Given the description of an element on the screen output the (x, y) to click on. 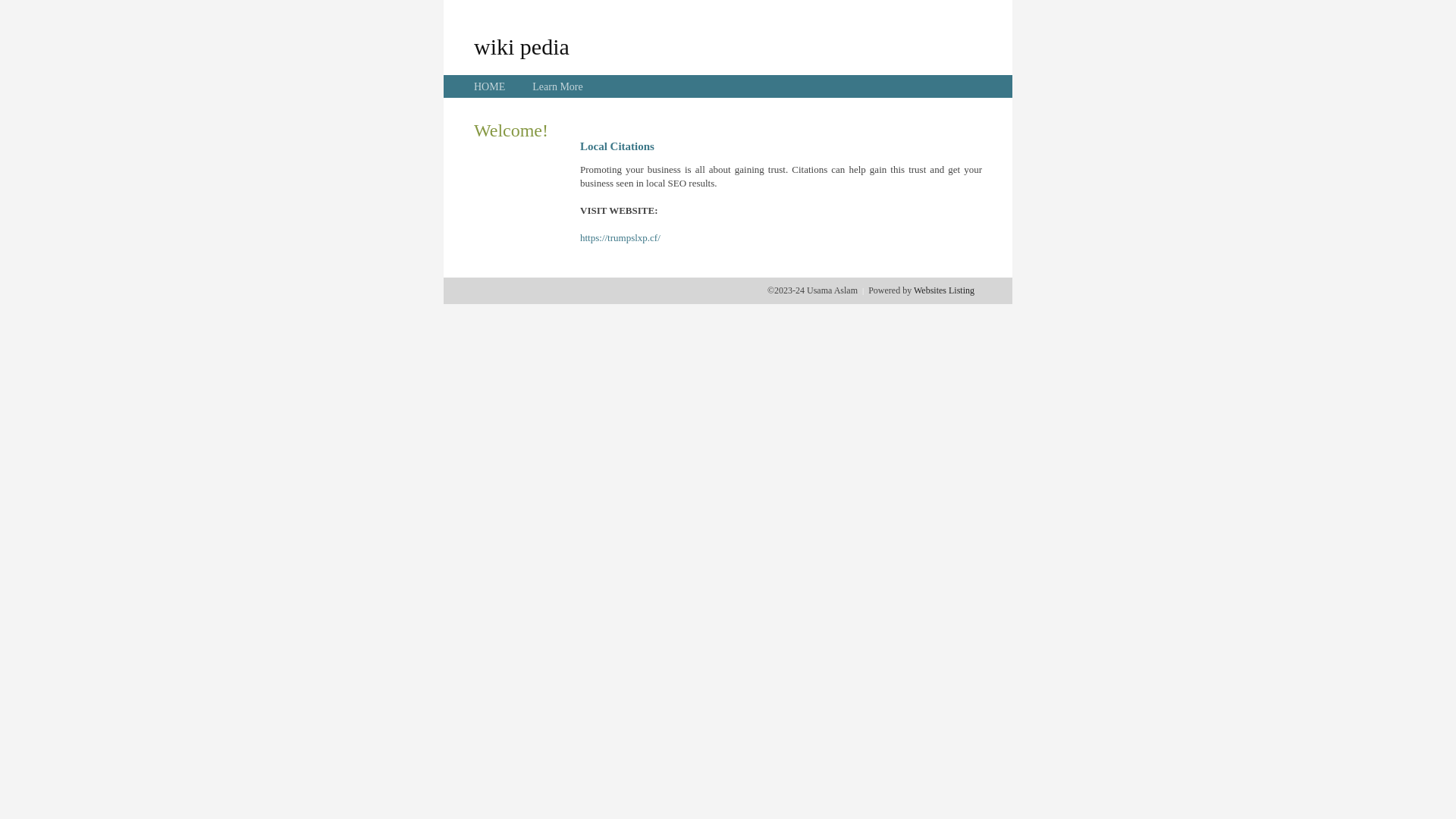
Websites Listing Element type: text (943, 290)
Learn More Element type: text (557, 86)
wiki pedia Element type: text (521, 46)
https://trumpslxp.cf/ Element type: text (620, 237)
HOME Element type: text (489, 86)
